Given the description of an element on the screen output the (x, y) to click on. 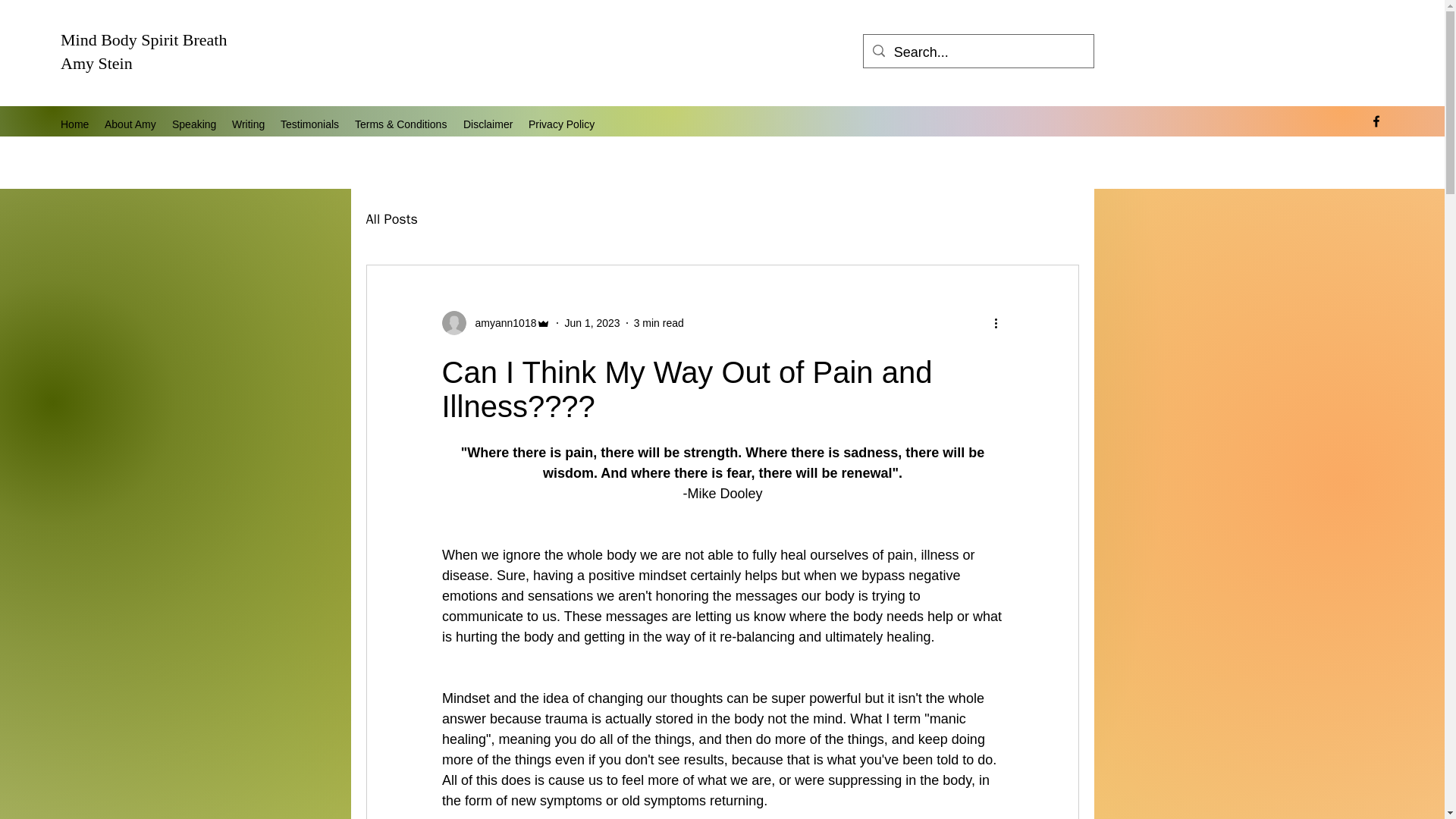
amyann1018 (500, 323)
amyann1018 (495, 322)
About Amy (130, 124)
3 min read (658, 322)
Disclaimer (488, 124)
Jun 1, 2023 (592, 322)
Home (74, 124)
All Posts (390, 218)
Speaking (194, 124)
Writing (248, 124)
Testimonials (310, 124)
Privacy Policy (561, 124)
